Given the description of an element on the screen output the (x, y) to click on. 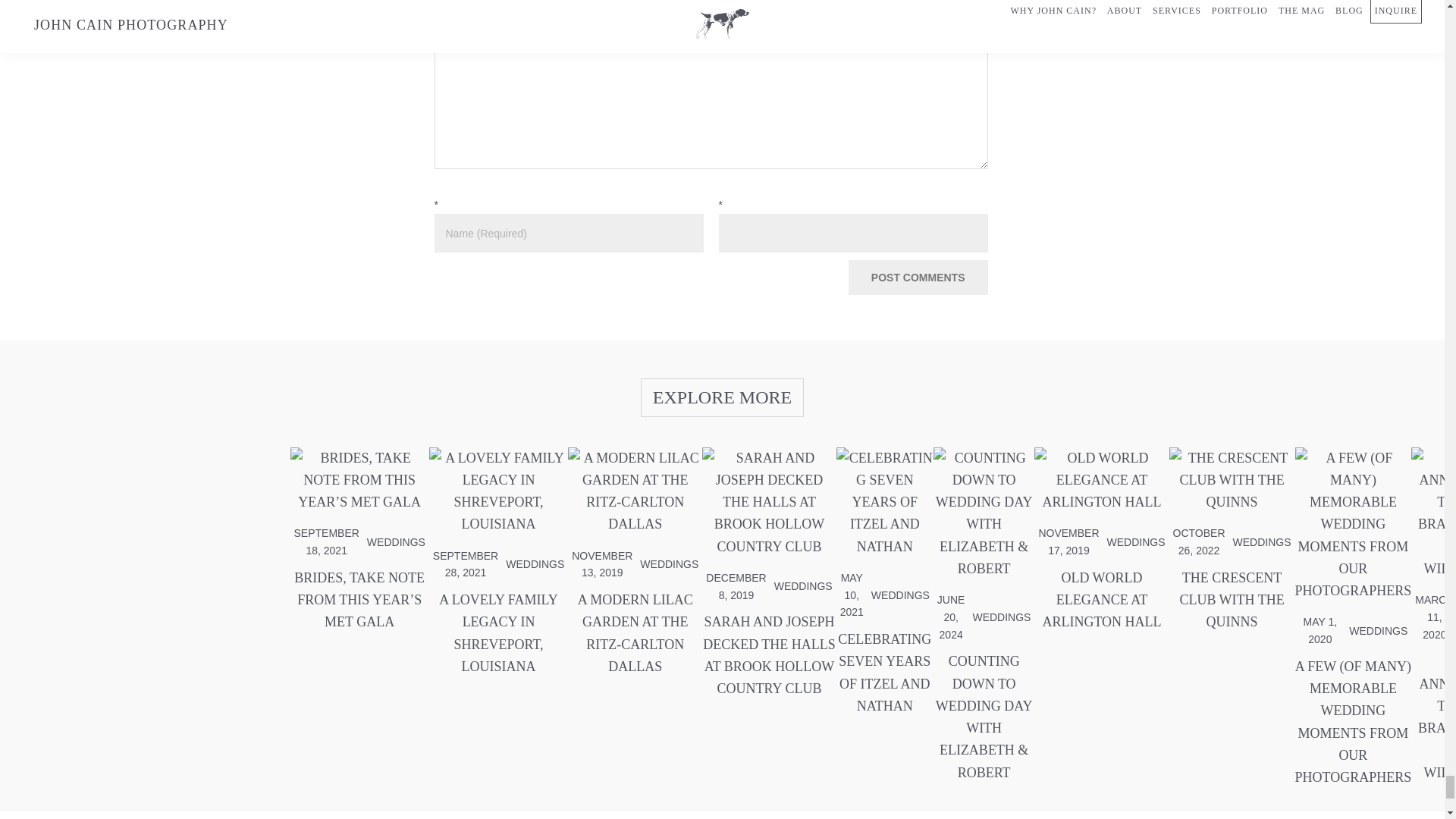
A Modern Lilac Garden at the Ritz-Carlton Dallas (634, 497)
Old World Elegance at Arlington Hall (1101, 486)
Celebrating Seven Years of Itzel and Nathan (884, 672)
A Lovely Family Legacy in Shreveport, Louisiana (498, 633)
Old World Elegance at Arlington Hall (1101, 600)
The Crescent Club with the Quinns (1232, 600)
Post Comments (918, 277)
A Modern Lilac Garden at the Ritz-Carlton Dallas (634, 633)
A Lovely Family Legacy in Shreveport, Louisiana (498, 497)
The Crescent Club with the Quinns (1232, 486)
